Given the description of an element on the screen output the (x, y) to click on. 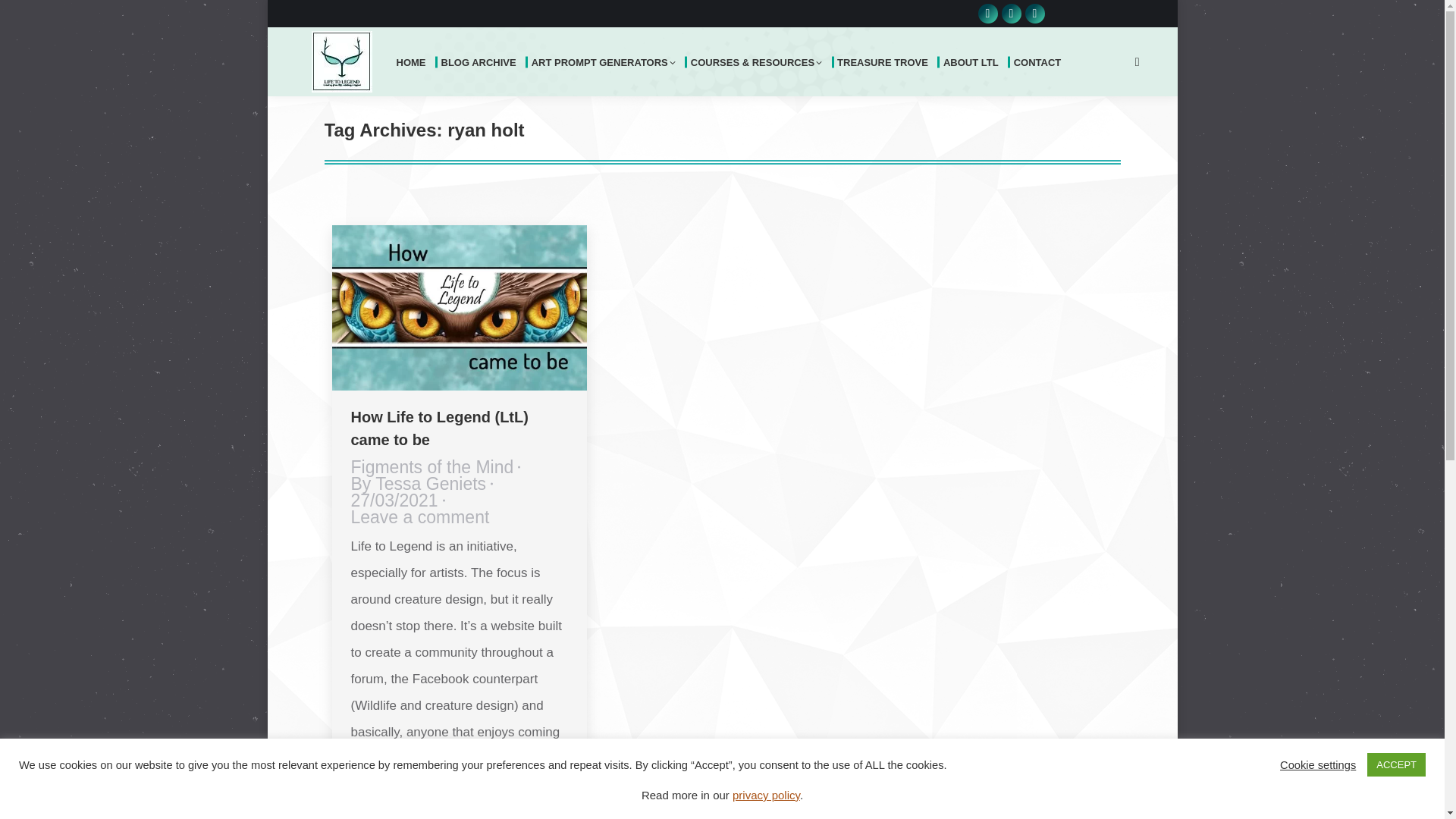
Facebook page opens in new window (1010, 13)
ABOUT LTL (973, 60)
ART PROMPT GENERATORS (605, 60)
Rss page opens in new window (1035, 13)
TREASURE TROVE (884, 60)
View all posts by Tessa Geniets (421, 483)
CONTACT (1040, 60)
BLOG ARCHIVE (480, 60)
Go! (33, 16)
YouTube page opens in new window (987, 13)
